Given the description of an element on the screen output the (x, y) to click on. 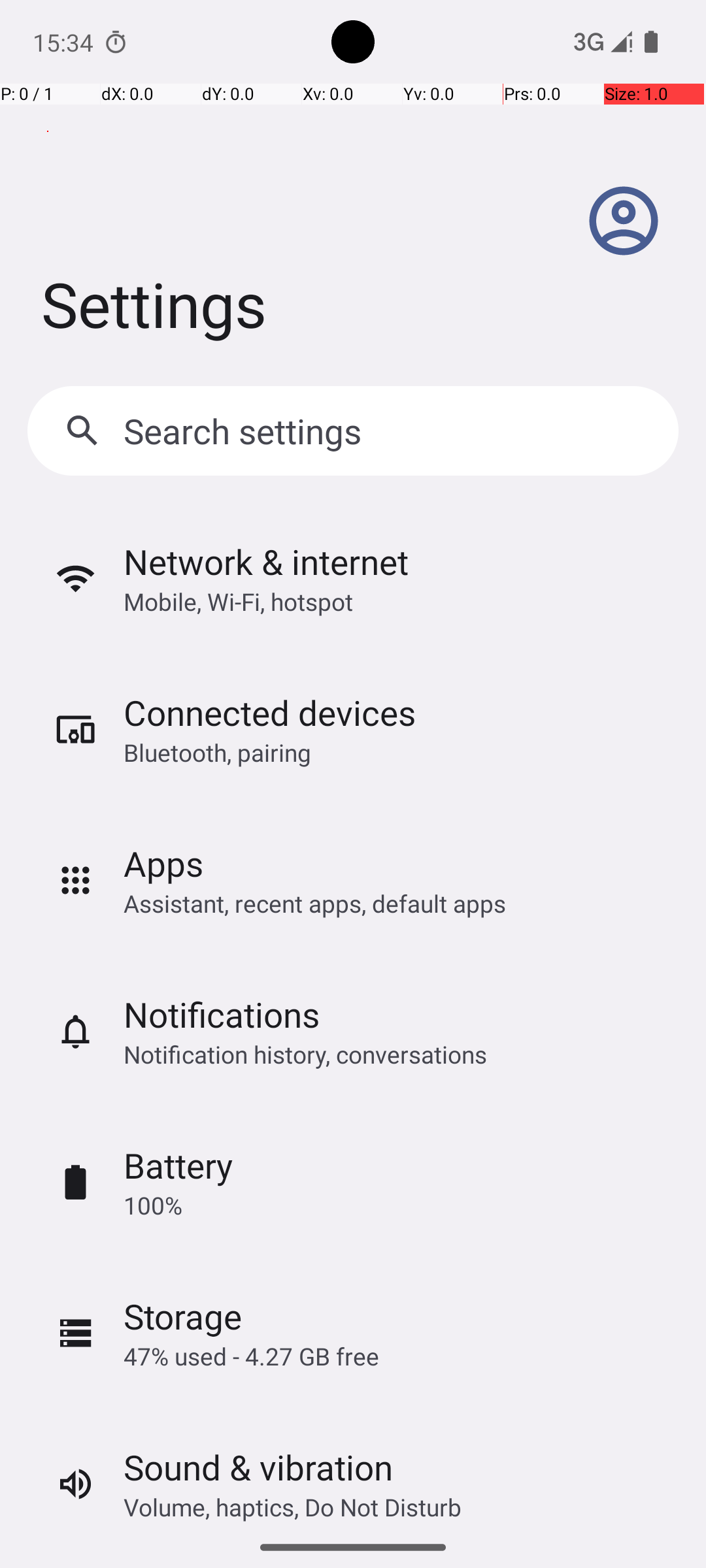
47% used - 4.27 GB free Element type: android.widget.TextView (251, 1355)
